Given the description of an element on the screen output the (x, y) to click on. 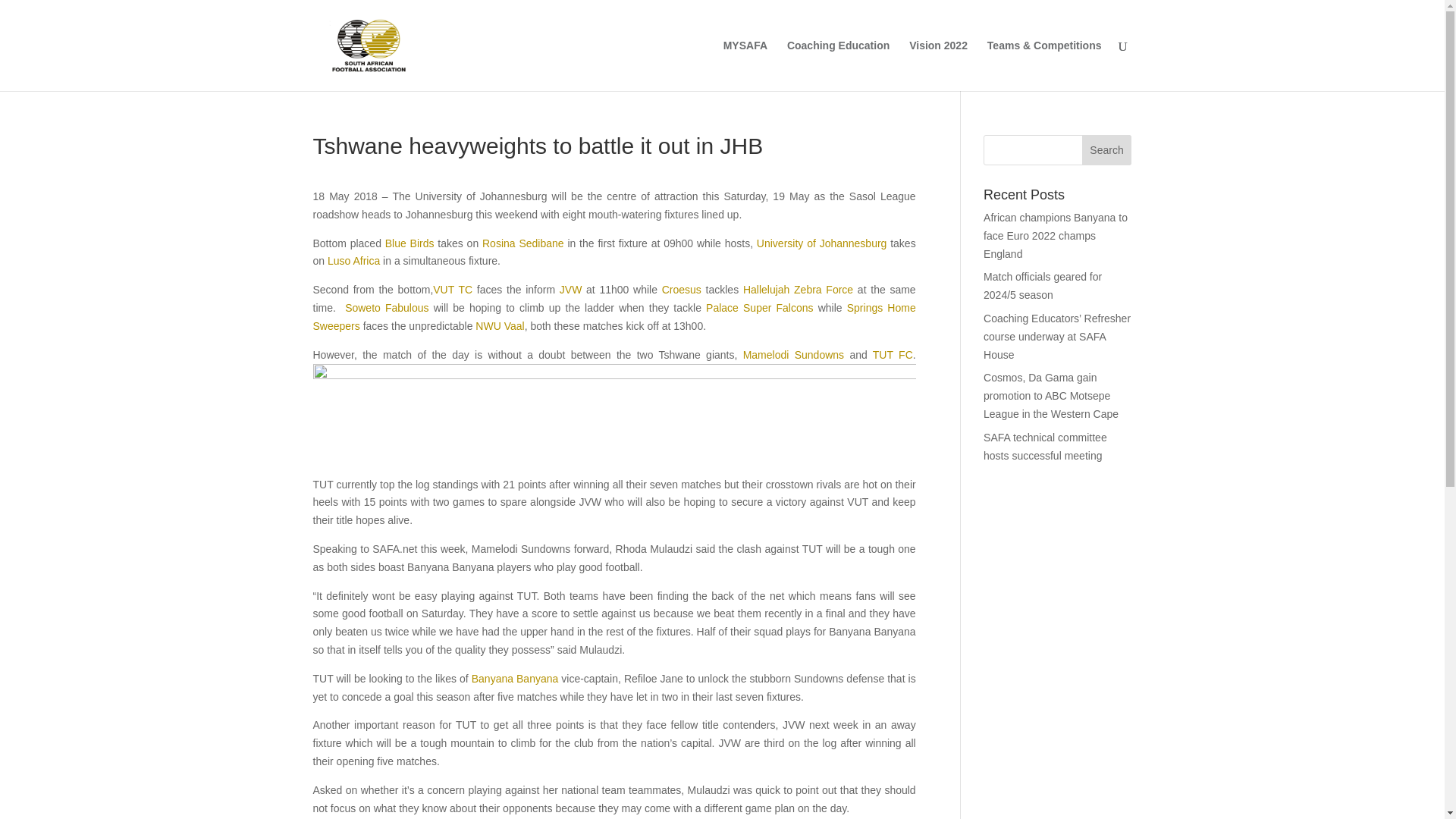
Croesus (681, 289)
Mamelodi Sundowns (793, 354)
Search (1106, 150)
Soweto Fabulous (386, 307)
VUT TC (451, 289)
Rosina Sedibane (522, 243)
Search (1106, 150)
Banyana Banyana (515, 678)
SAFA technical committee hosts successful meeting (1045, 446)
Springs Home Sweepers (614, 317)
NWU Vaal (500, 326)
TUT FC (892, 354)
JVW (570, 289)
Vision 2022 (938, 65)
African champions Banyana to face Euro 2022 champs England (1055, 235)
